Given the description of an element on the screen output the (x, y) to click on. 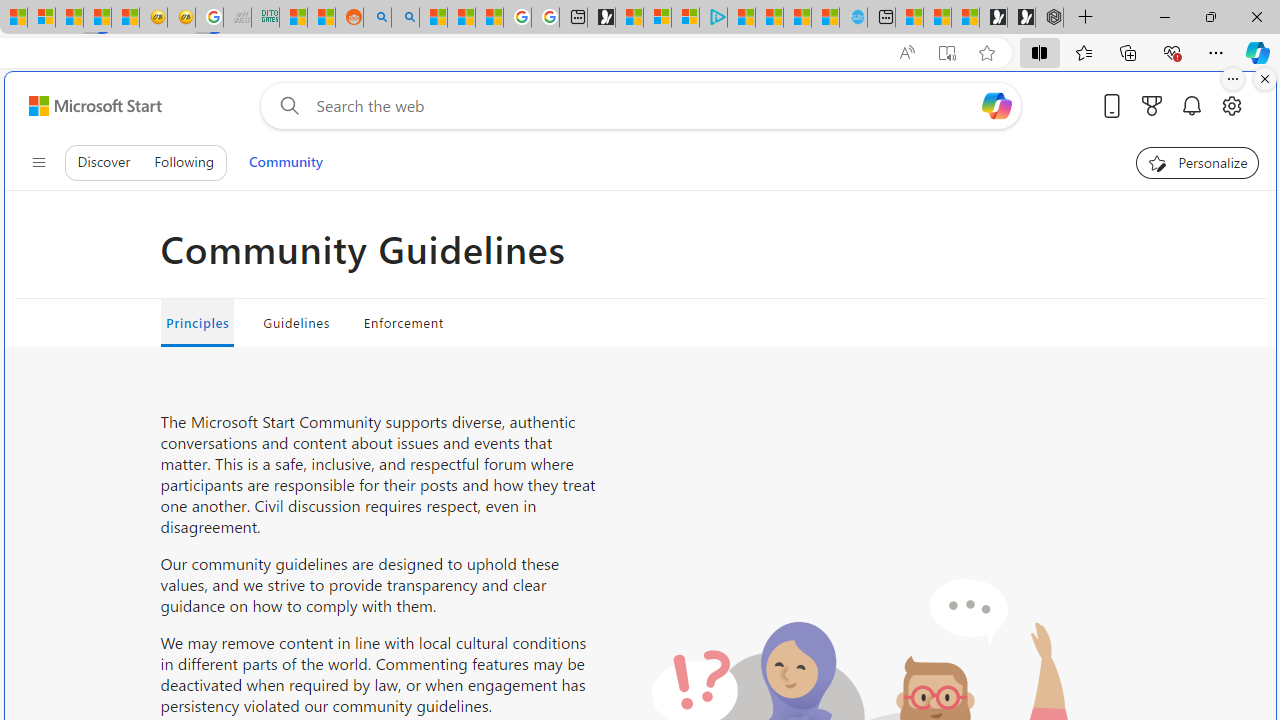
Nordace - Nordace Siena Is Not An Ordinary Backpack (1049, 17)
Microsoft Start Gaming (601, 17)
MSNBC - MSN (293, 17)
Web search (285, 105)
MSN (97, 17)
Guidelines (296, 322)
